Given the description of an element on the screen output the (x, y) to click on. 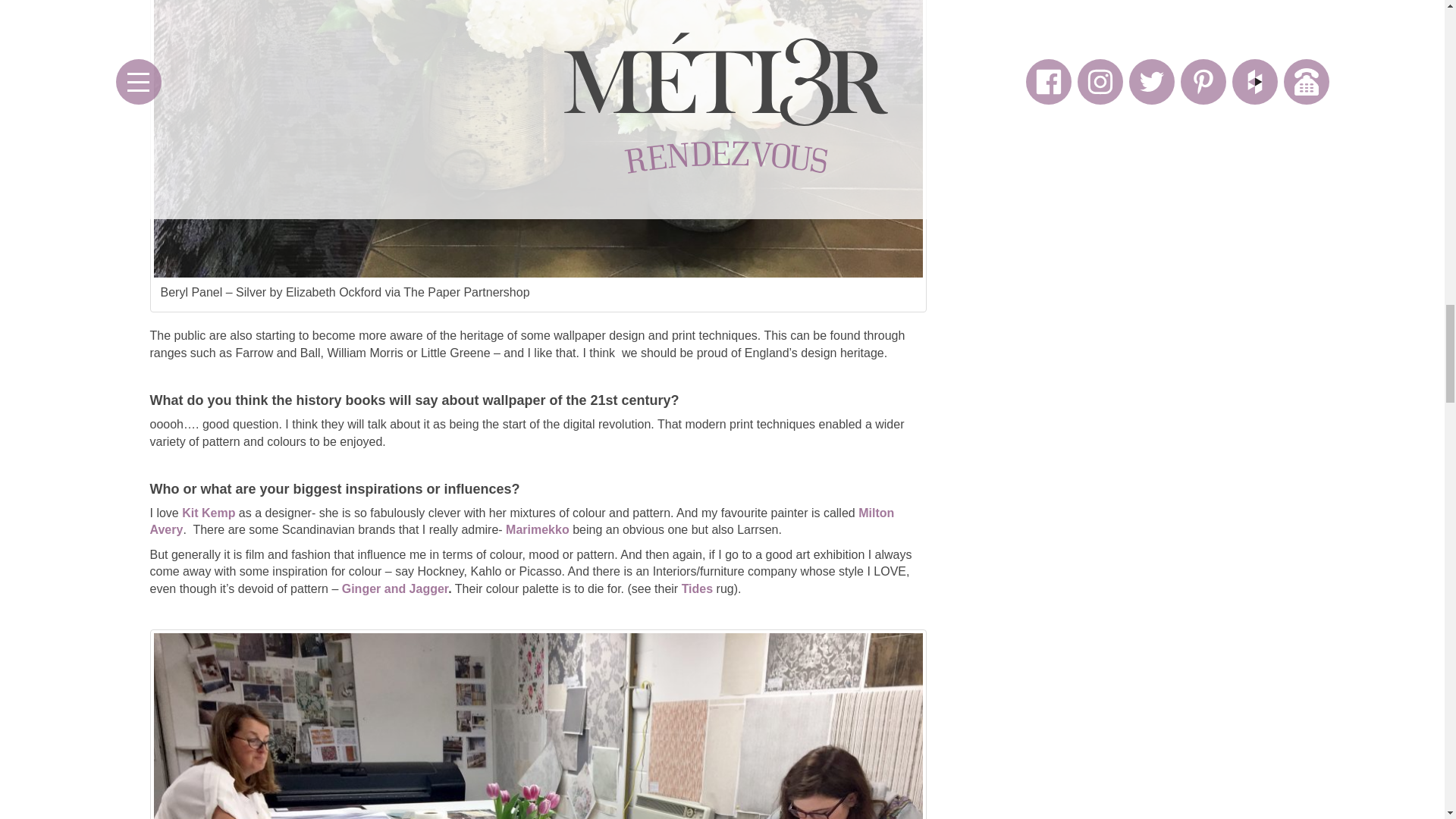
Milton Avery (522, 521)
Marimekko (537, 529)
Kit Kemp (207, 512)
